Given the description of an element on the screen output the (x, y) to click on. 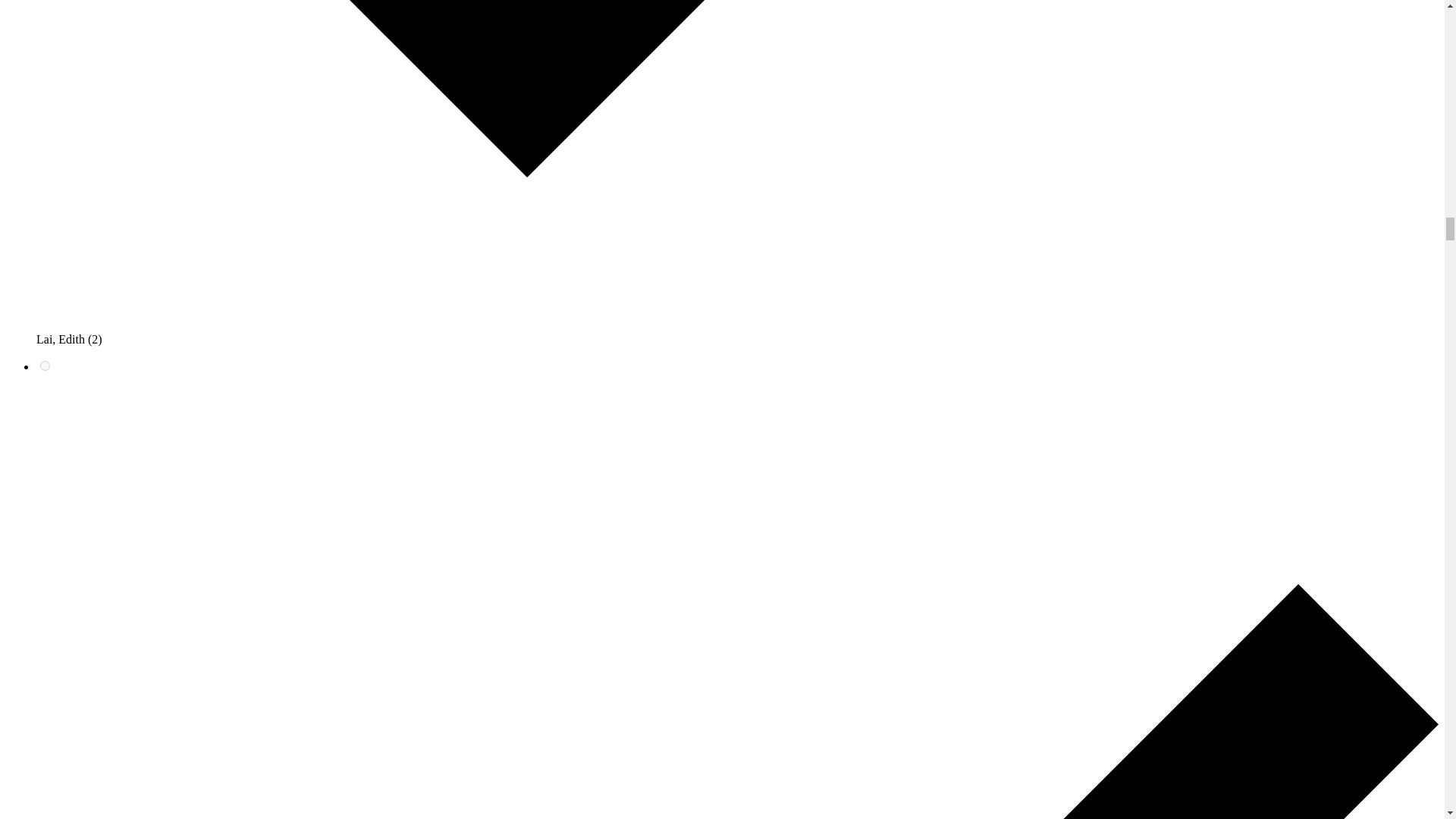
Ng, Pun Hon (44, 366)
